Given the description of an element on the screen output the (x, y) to click on. 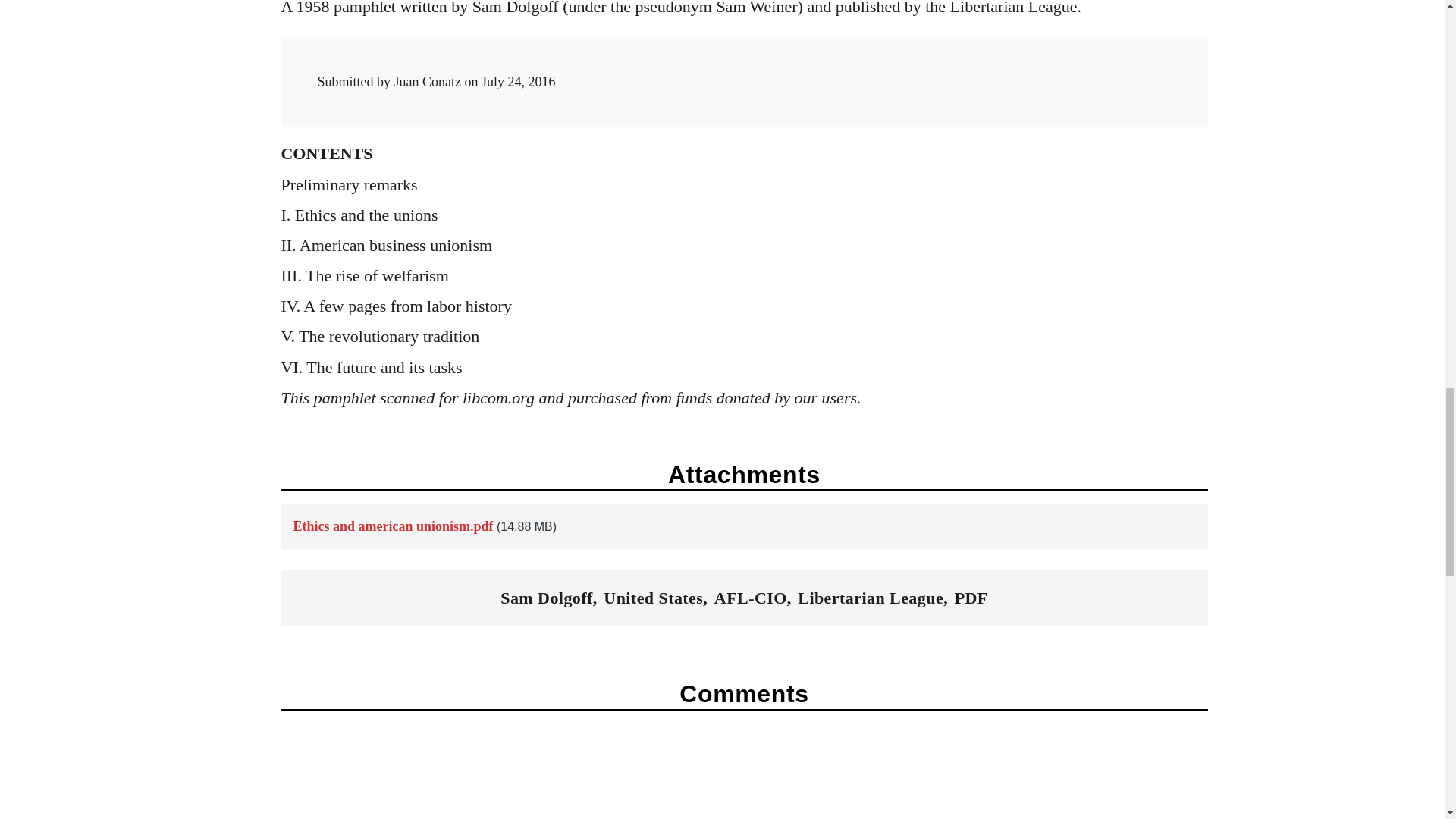
Sam Dolgoff (546, 598)
Share to Twitter (946, 67)
Ethics and american unionism.pdf (392, 525)
PDF (971, 598)
AFL-CIO (750, 598)
Share to Facebook (916, 67)
United States (653, 598)
Ethics and american unionism.pdf (392, 525)
Share to Reddit (977, 67)
Libertarian League (870, 598)
